Given the description of an element on the screen output the (x, y) to click on. 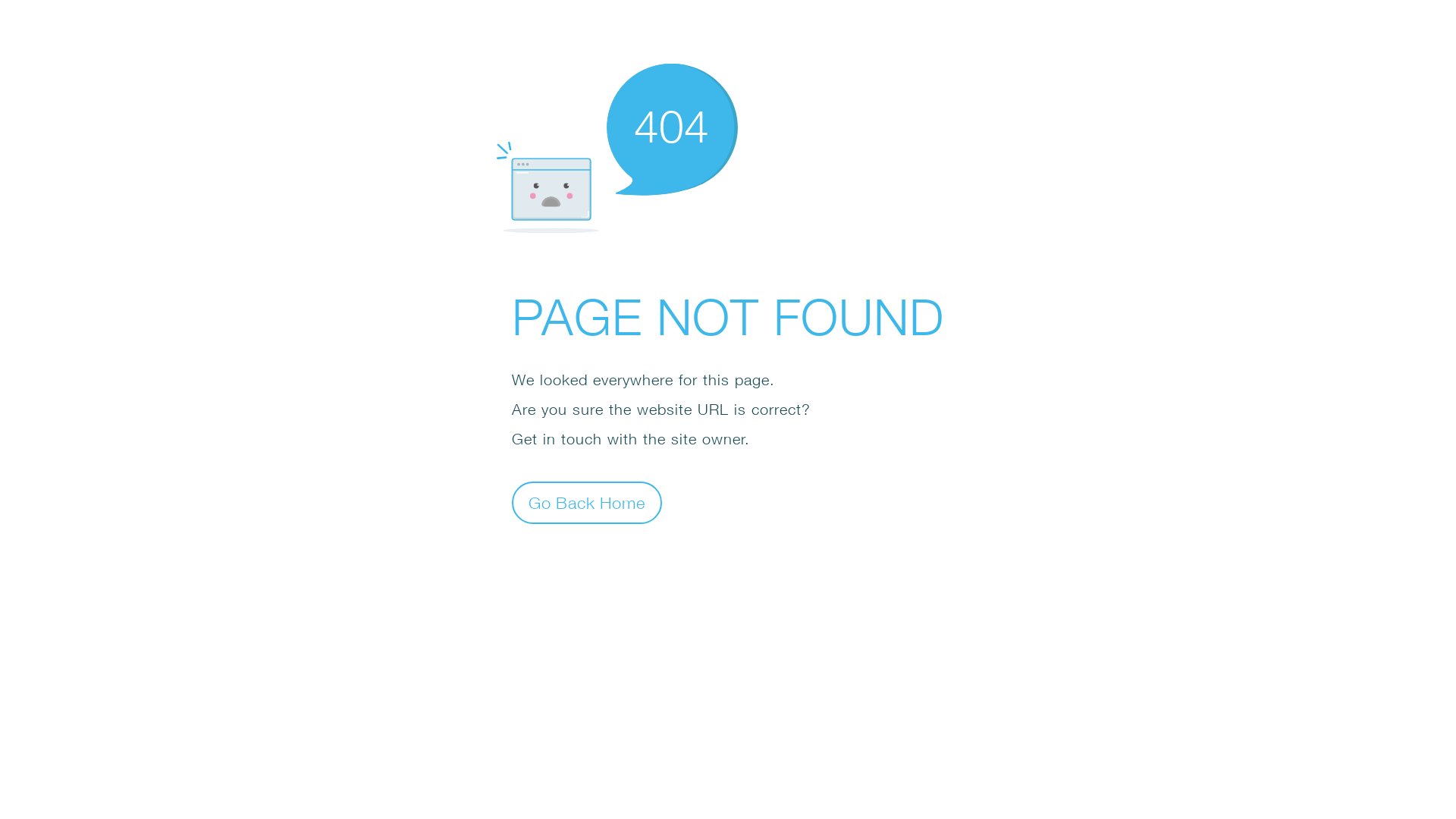
Go Back Home Element type: text (586, 502)
